Given the description of an element on the screen output the (x, y) to click on. 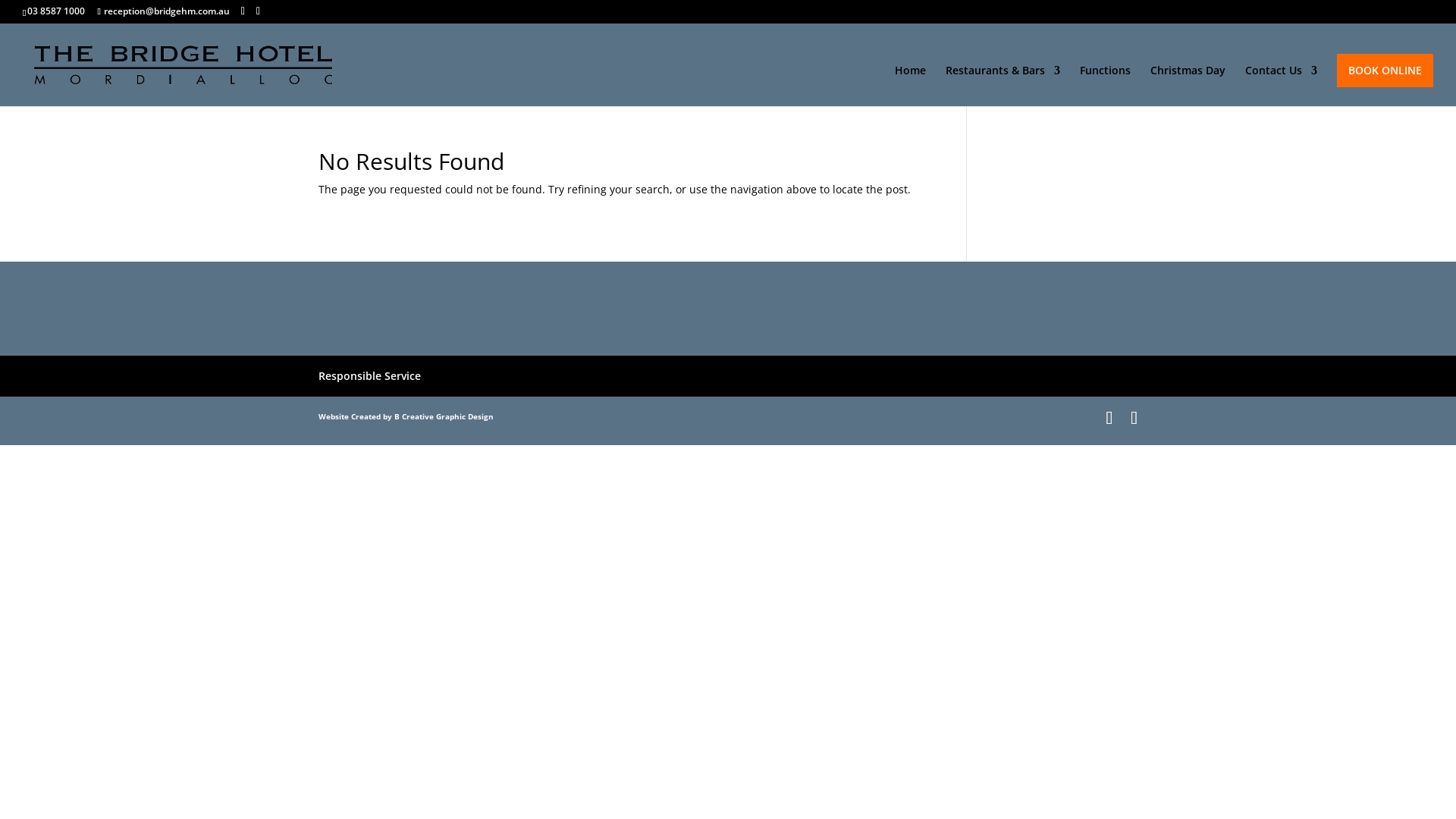
reception@bridgehm.com.au Element type: text (163, 10)
Home Element type: text (909, 85)
Restaurants & Bars Element type: text (1002, 85)
BOOK ONLINE Element type: text (1384, 70)
Christmas Day Element type: text (1187, 85)
Functions Element type: text (1104, 85)
Website Created by B Creative Graphic Design Element type: text (405, 416)
Contact Us Element type: text (1281, 85)
Responsible Service Element type: text (369, 375)
